Given the description of an element on the screen output the (x, y) to click on. 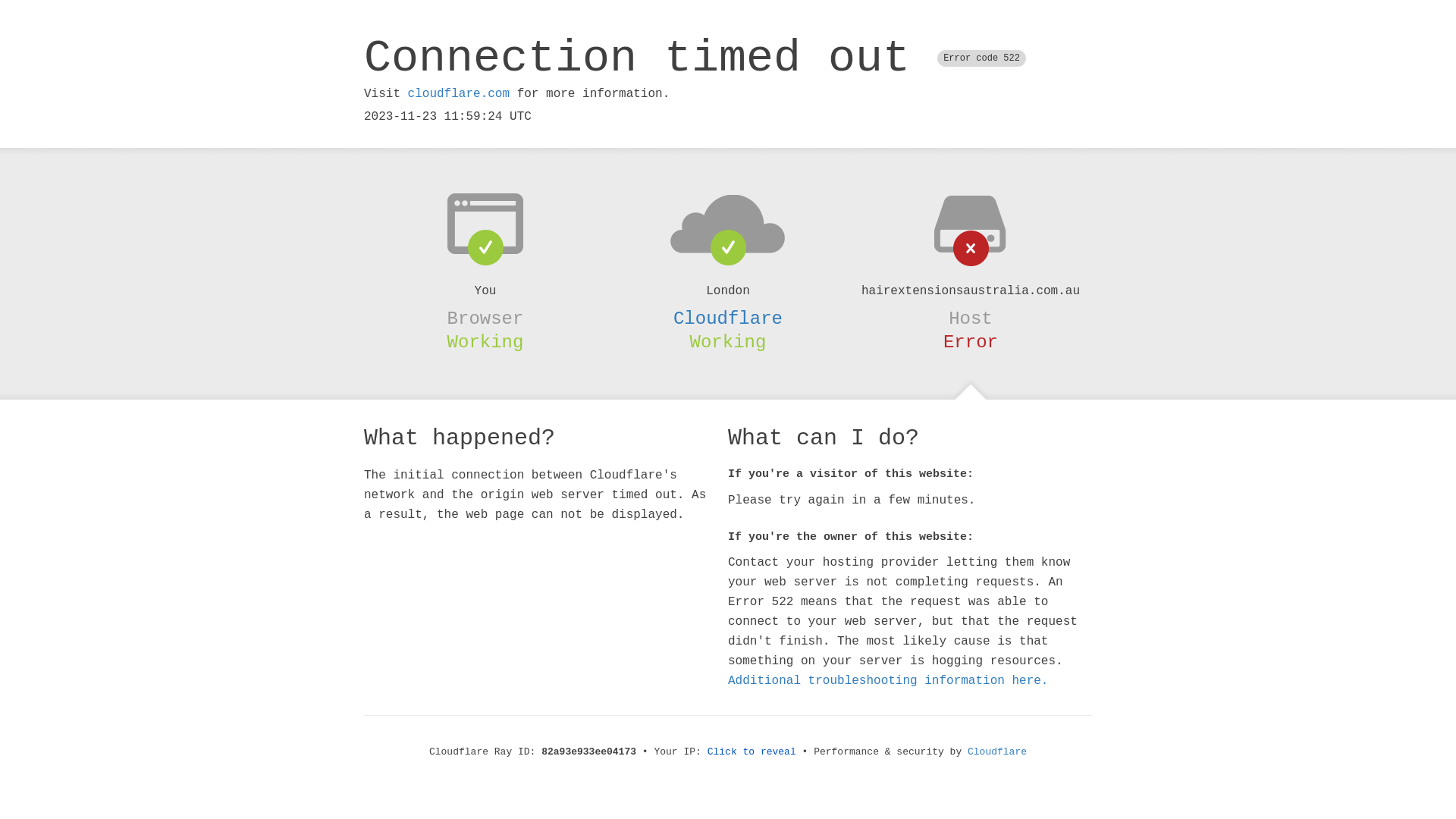
cloudflare.com Element type: text (458, 93)
Additional troubleshooting information here. Element type: text (888, 680)
Cloudflare Element type: text (727, 318)
Click to reveal Element type: text (751, 751)
Cloudflare Element type: text (996, 751)
